Given the description of an element on the screen output the (x, y) to click on. 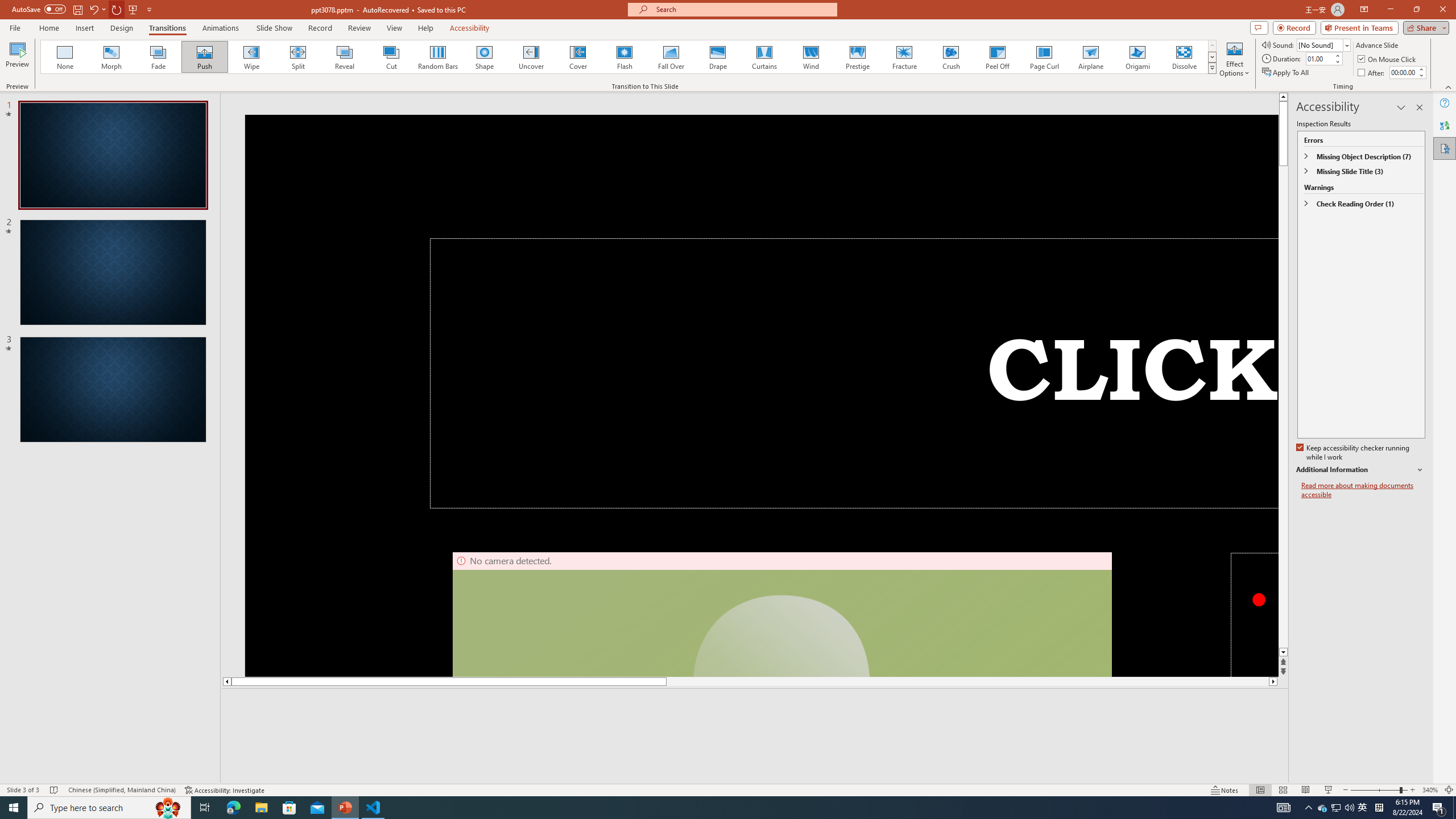
Zoom 340% (1430, 790)
Reveal (344, 56)
Morph (111, 56)
Airplane (1090, 56)
Peel Off (997, 56)
Fall Over (670, 56)
